Given the description of an element on the screen output the (x, y) to click on. 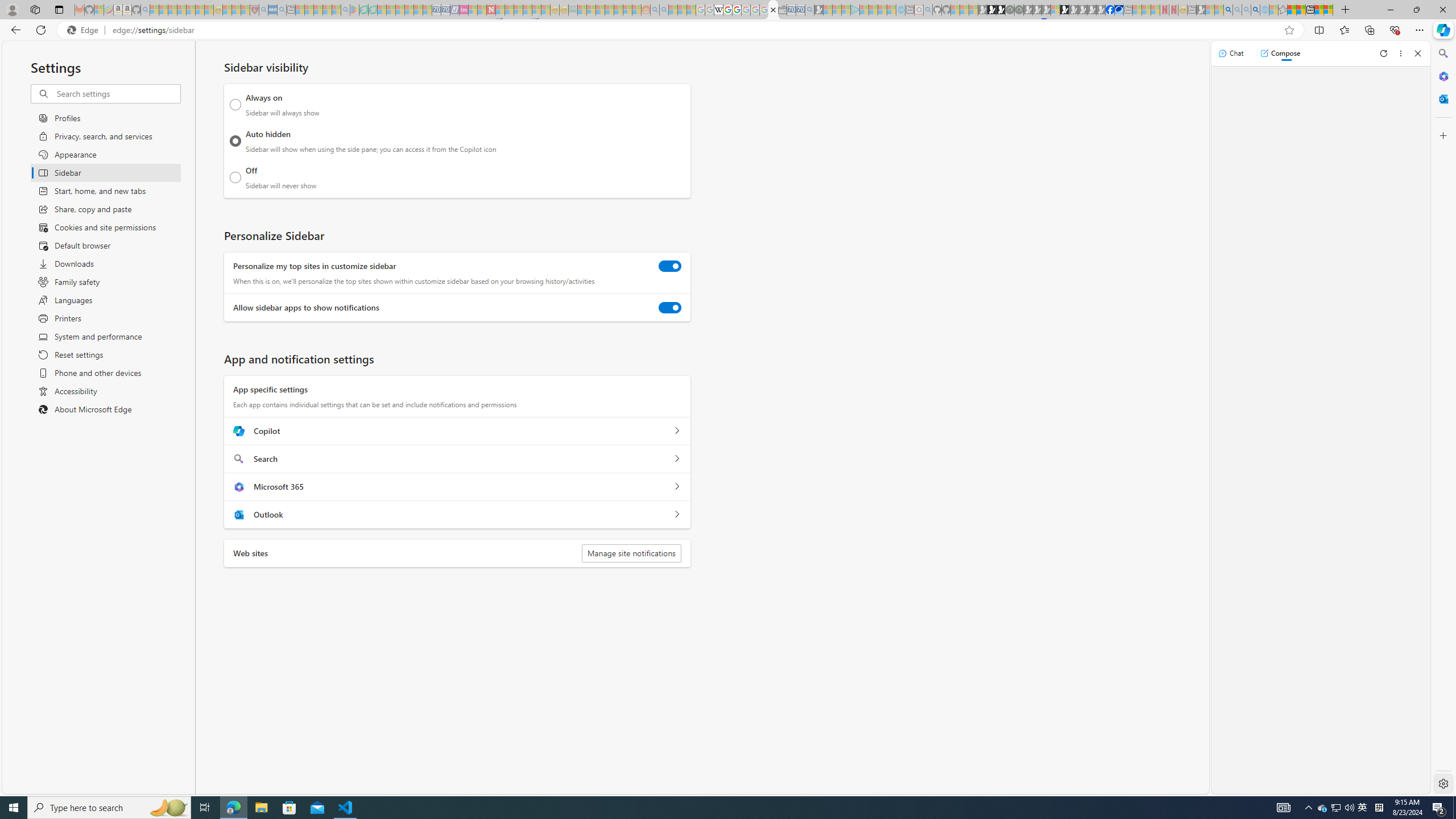
Privacy Help Center - Policies Help (726, 9)
New Report Confirms 2023 Was Record Hot | Watch - Sleeping (191, 9)
Copilot (676, 430)
Bing AI - Search (1227, 9)
